Given the description of an element on the screen output the (x, y) to click on. 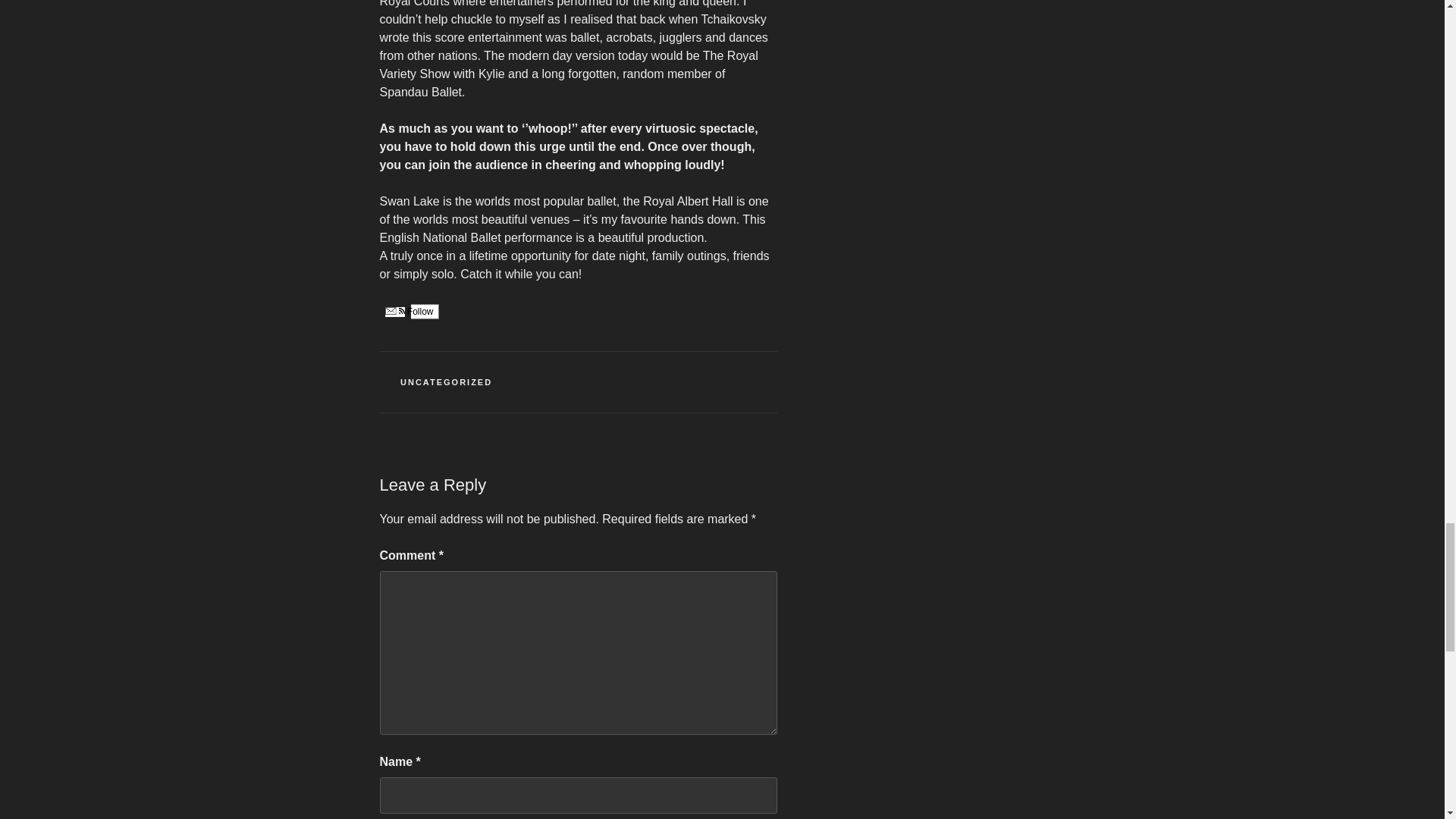
UNCATEGORIZED (446, 381)
Follow (408, 311)
Email, RSS (394, 311)
